Given the description of an element on the screen output the (x, y) to click on. 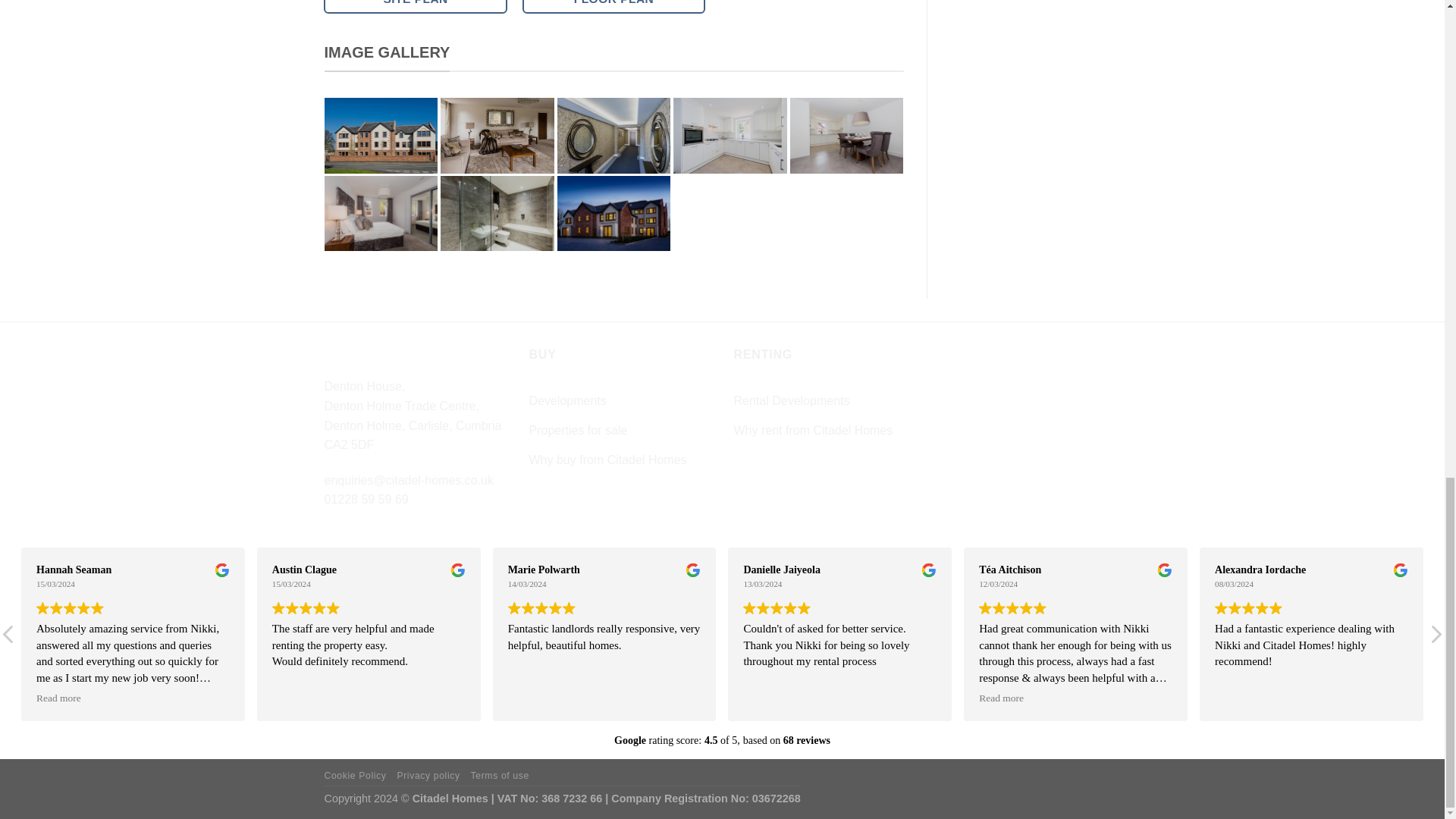
SITE PLAN (414, 6)
FLOOR PLAN (614, 6)
Rental Developments (791, 400)
Why rent from Citadel Homes (813, 430)
Developments (568, 400)
Privacy policy (428, 775)
Why buy from Citadel Homes (608, 460)
Cookie Policy (355, 775)
Properties for sale (578, 430)
Terms of use (499, 775)
